Given the description of an element on the screen output the (x, y) to click on. 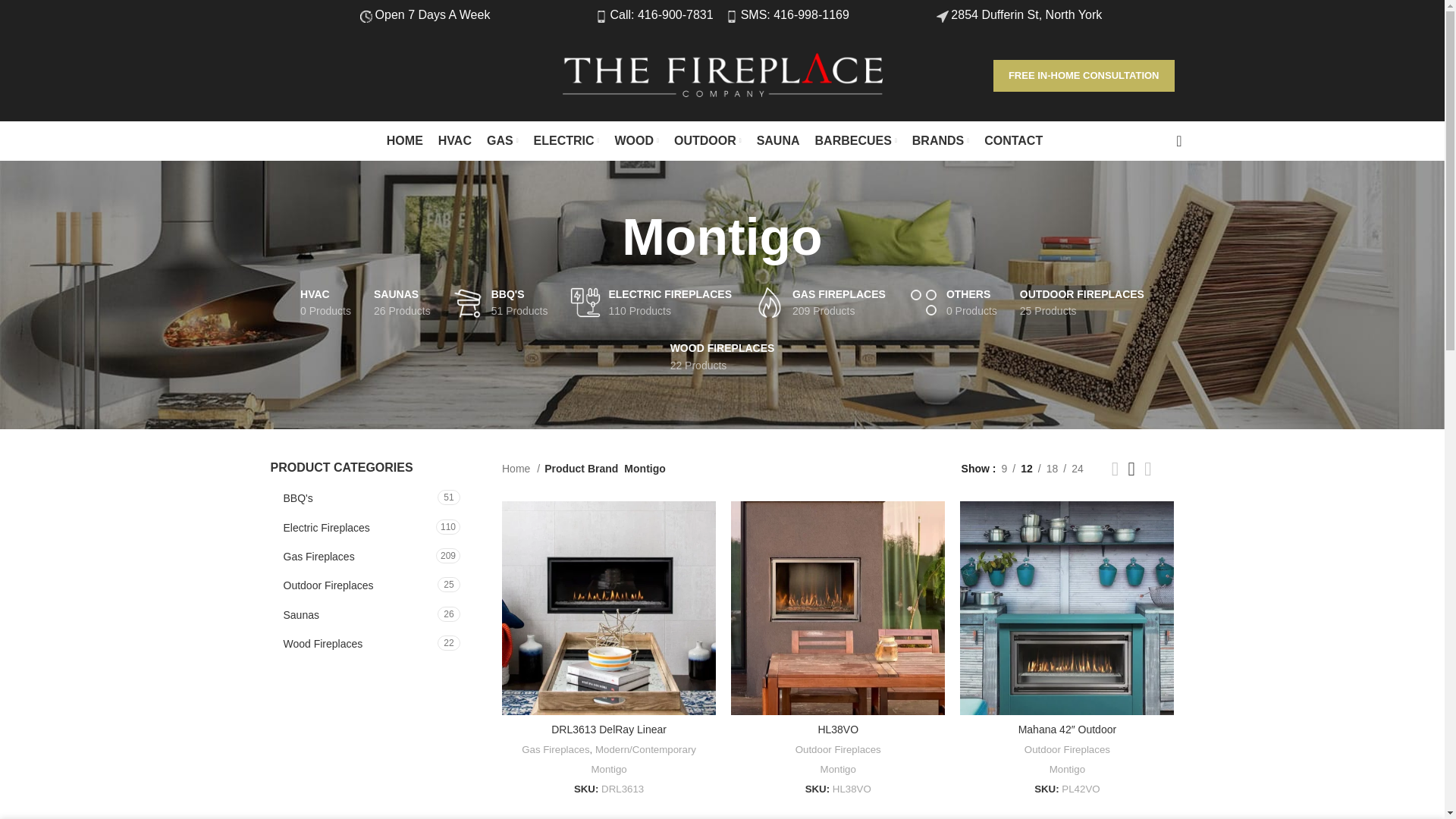
Open 7 Days A Week (424, 15)
HVAC (454, 141)
Search (1173, 141)
SAUNA (778, 141)
OUTDOOR (707, 141)
wd-phone-light (942, 16)
SMS: 416-998-1169 (786, 15)
HOME (405, 141)
WOOD (636, 141)
wd-phone-light (365, 16)
FREE IN-HOME CONSULTATION (1083, 75)
BARBECUES (855, 141)
BRANDS (940, 141)
wd-phone-light (731, 16)
